Given the description of an element on the screen output the (x, y) to click on. 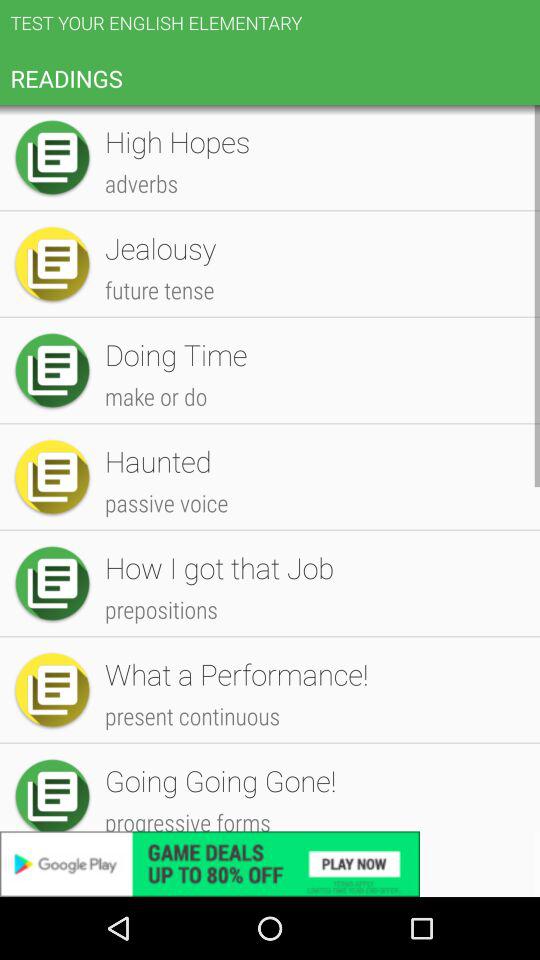
select item below readings icon (311, 304)
